Given the description of an element on the screen output the (x, y) to click on. 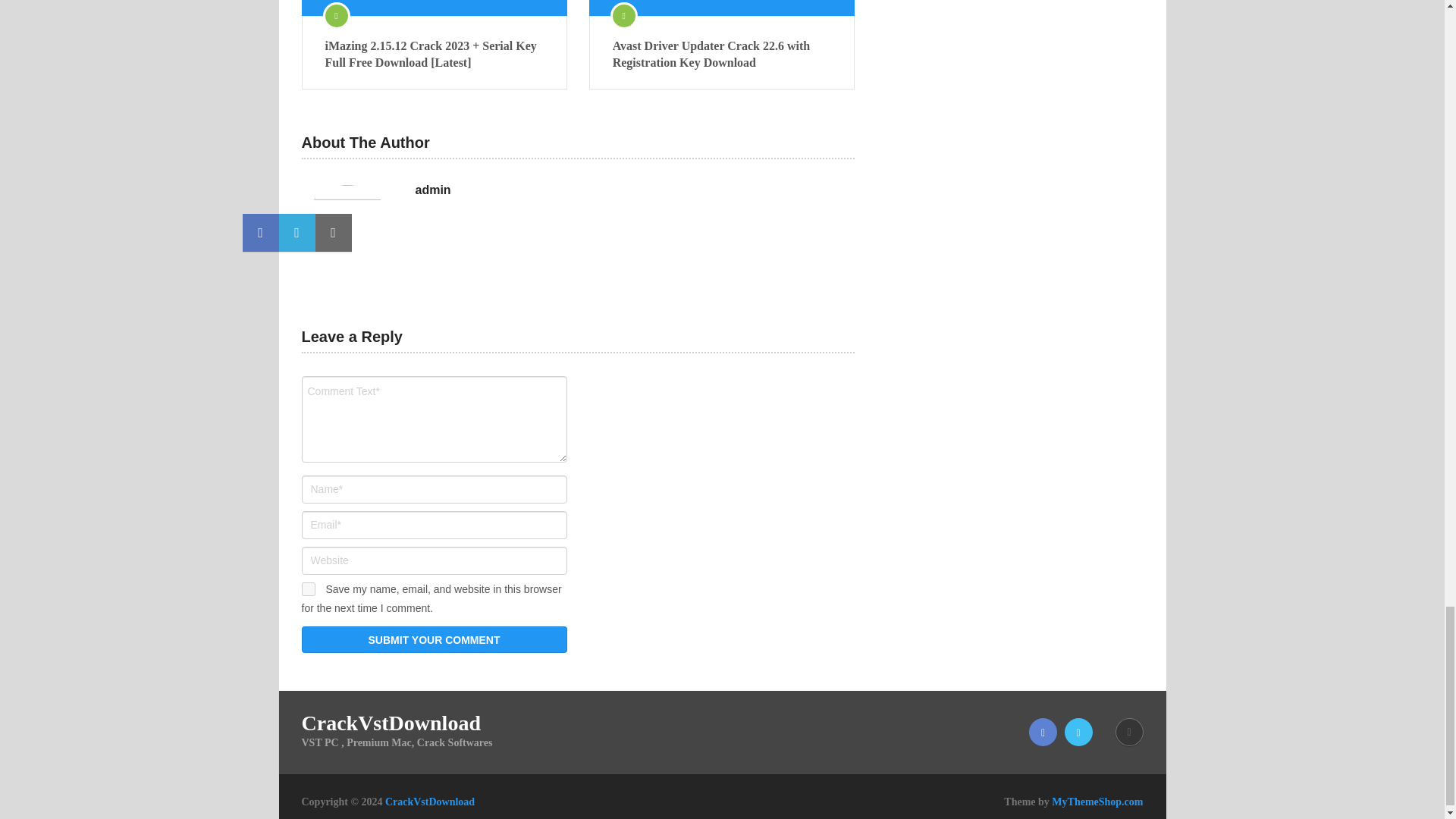
Submit Your Comment (434, 639)
yes (308, 589)
admin (432, 190)
Submit Your Comment (434, 639)
